Given the description of an element on the screen output the (x, y) to click on. 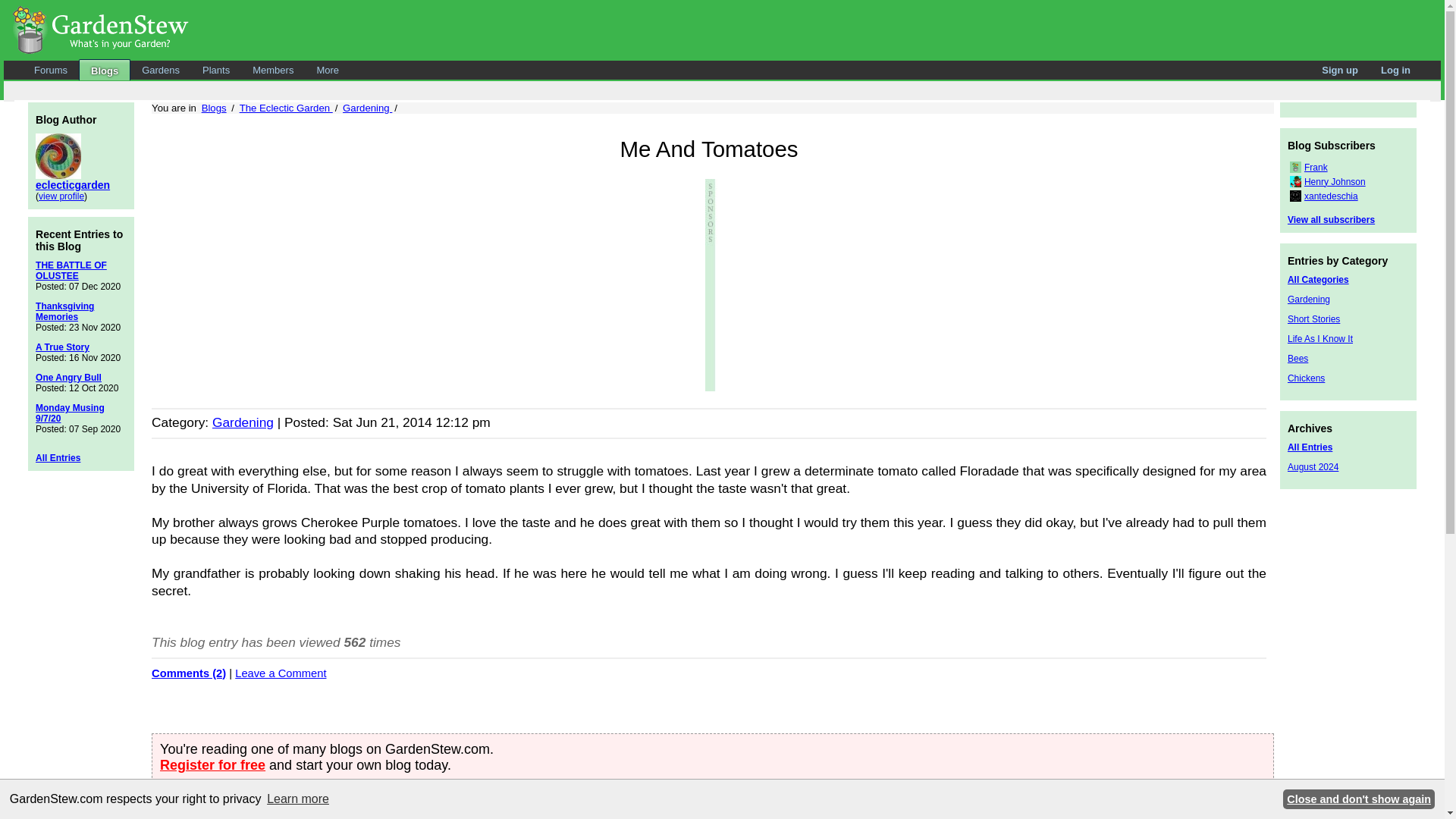
THE BATTLE OF OLUSTEE (70, 270)
Gardening (366, 107)
eclecticgarden (72, 184)
One Angry Bull (67, 377)
Thanksgiving Memories (64, 311)
Sign up (1340, 69)
Gardens (160, 69)
Blogs (214, 107)
Register for free (212, 765)
Plants (215, 69)
